Given the description of an element on the screen output the (x, y) to click on. 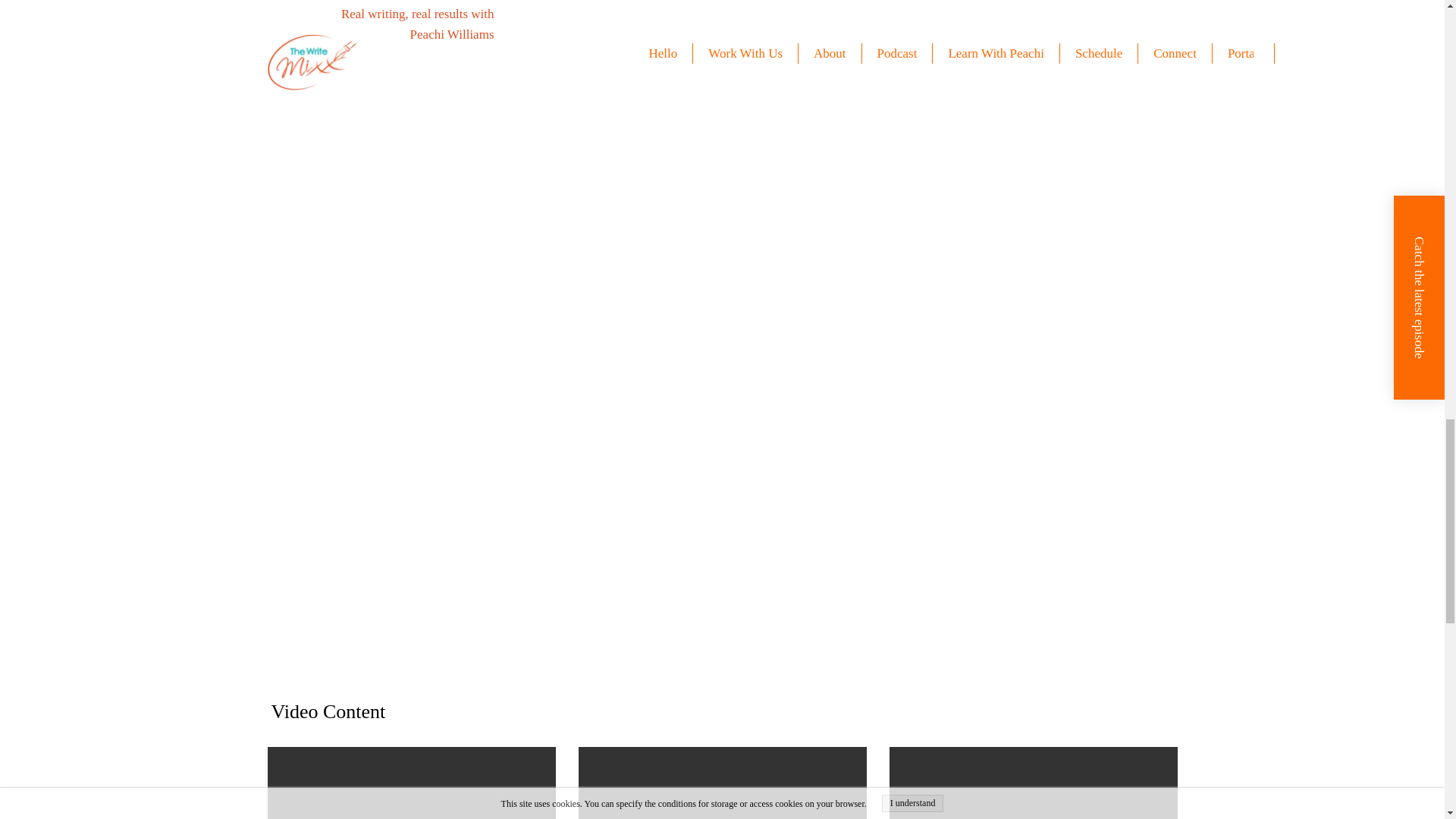
Writing Samples (722, 460)
